Given the description of an element on the screen output the (x, y) to click on. 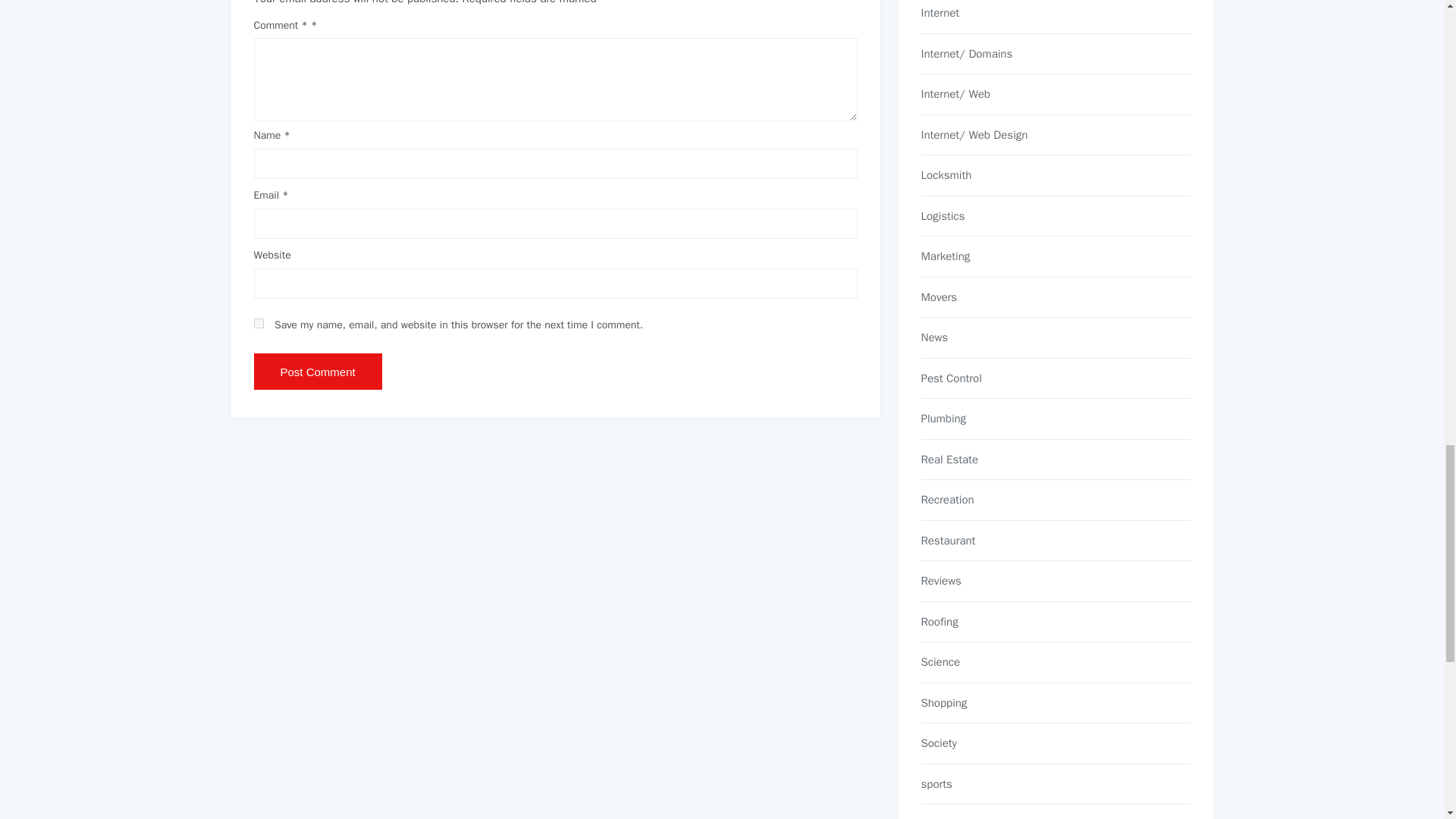
yes (258, 323)
Post Comment (317, 370)
Post Comment (317, 370)
